Given the description of an element on the screen output the (x, y) to click on. 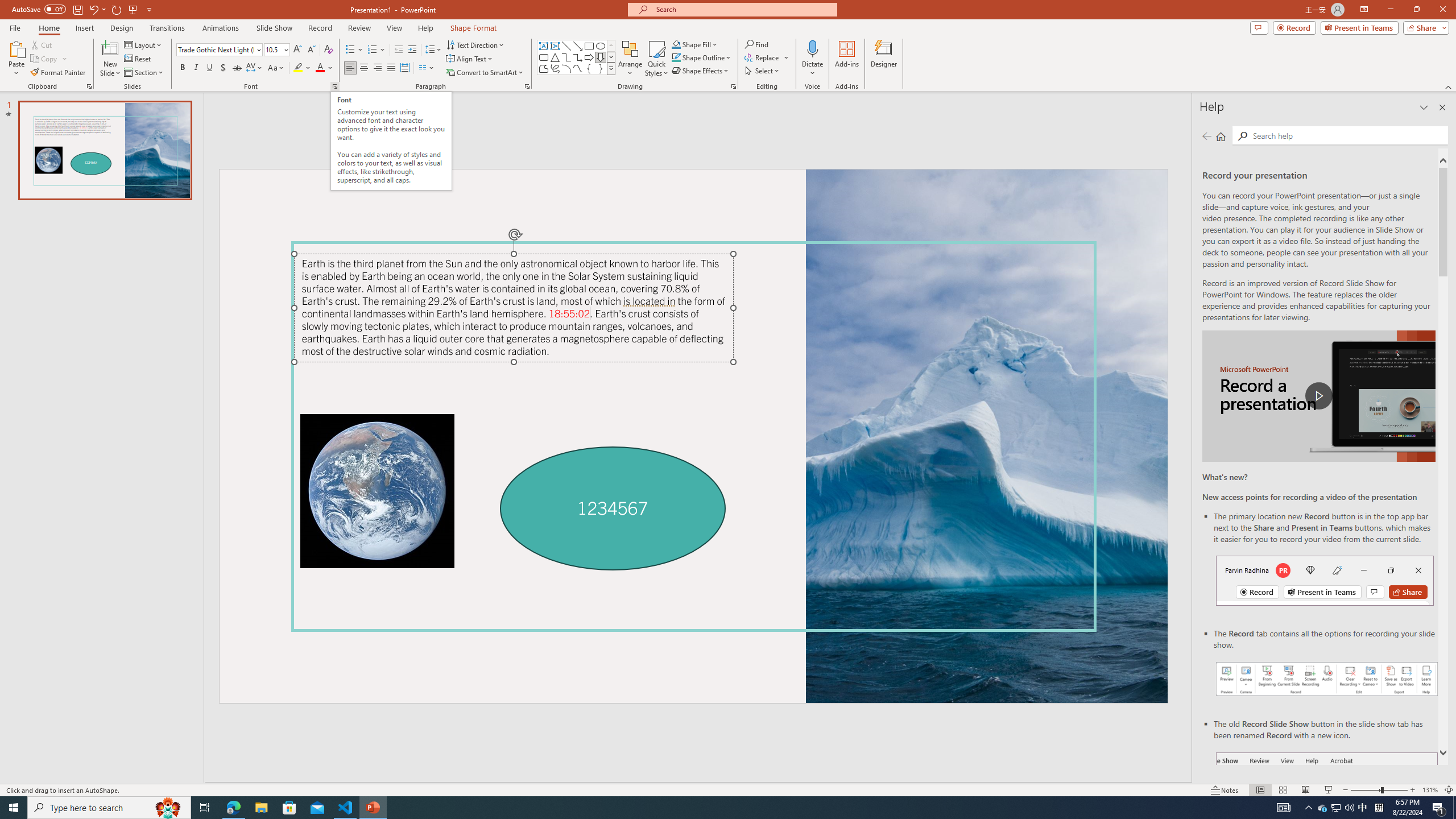
Reset (138, 58)
Increase Indent (412, 49)
Distributed (404, 67)
Record your presentations screenshot one (1326, 678)
Rectangle (589, 45)
Format Painter (58, 72)
Decrease Font Size (310, 49)
Italic (195, 67)
Freeform: Scribble (554, 68)
